Given the description of an element on the screen output the (x, y) to click on. 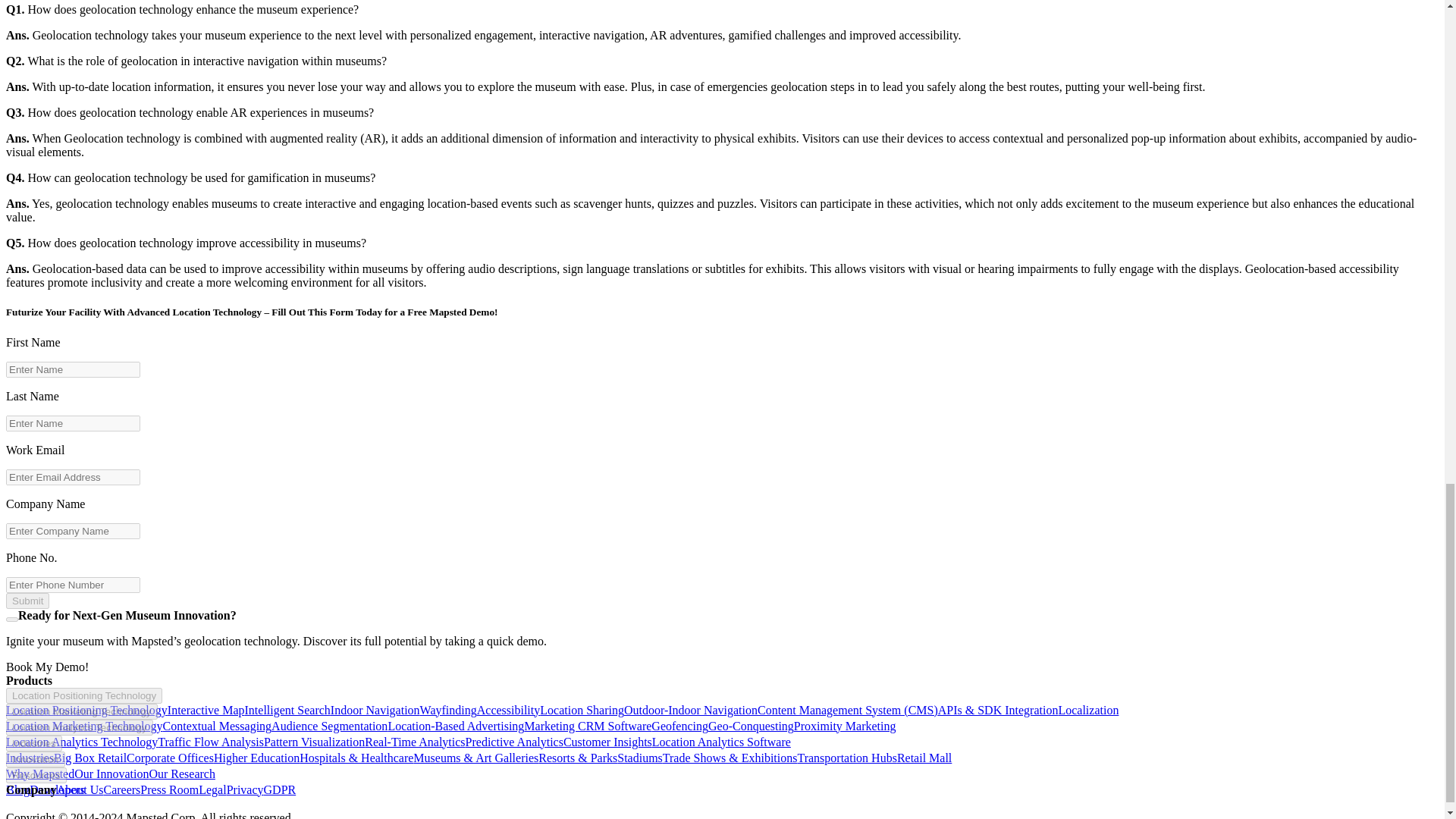
Location-Based Advertising (455, 725)
Accessibility (508, 709)
Location Analytics Technology (81, 741)
Location Positioning Technology (83, 695)
Geo-Conquesting (750, 725)
Location Sharing (582, 709)
Marketing CRM Software (587, 725)
Indoor Navigation (375, 709)
Contextual Messaging (217, 725)
Book My Demo! (46, 666)
Customer Insights (607, 741)
Predictive Analytics (514, 741)
Location Marketing Technology (84, 725)
Localization (1088, 709)
Pattern Visualization (314, 741)
